Given the description of an element on the screen output the (x, y) to click on. 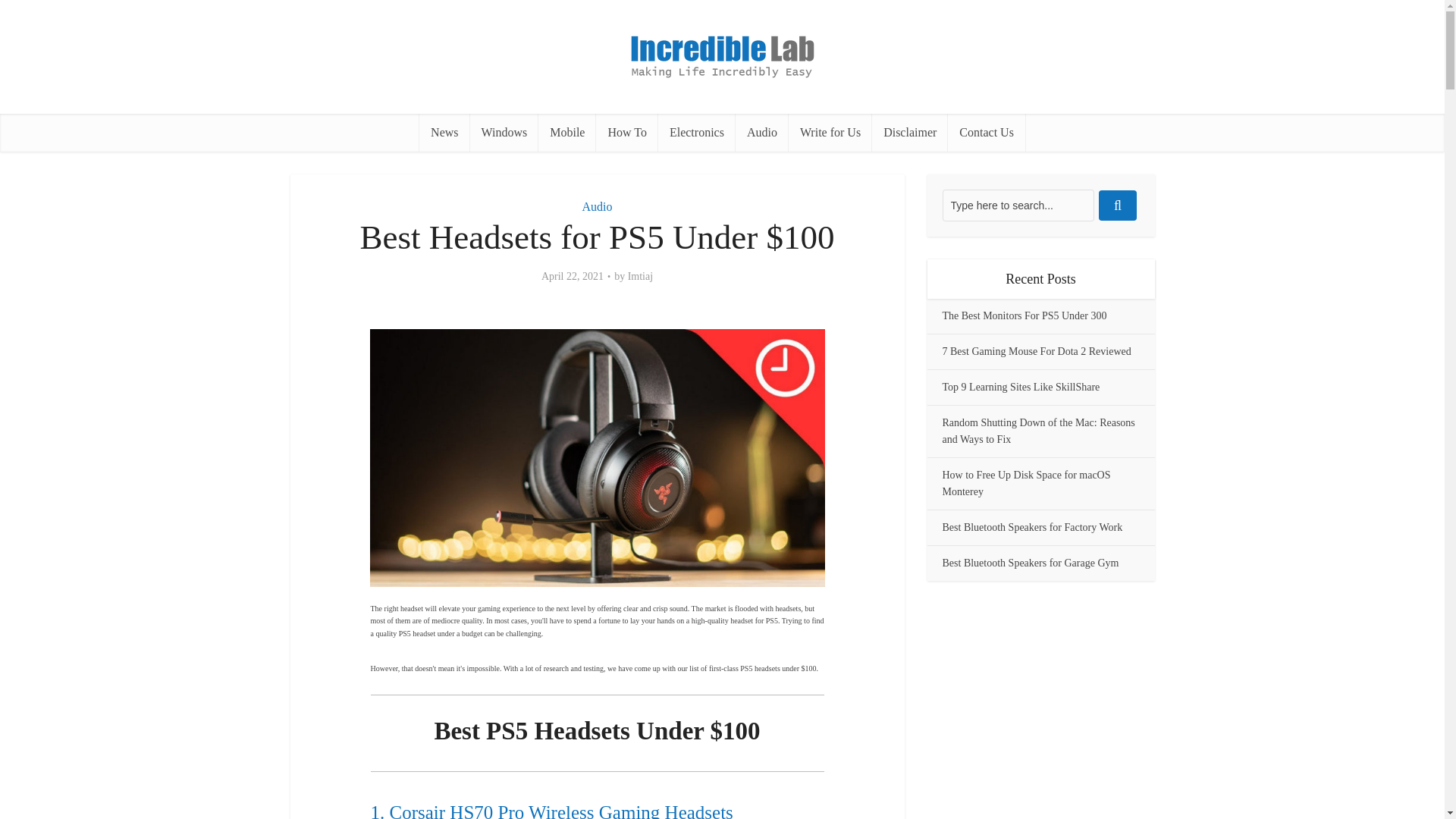
Contact Us (986, 132)
Imtiaj (639, 276)
Audio (597, 205)
How To (626, 132)
Mobile (566, 132)
Type here to search... (1017, 205)
Write for Us (830, 132)
Windows (504, 132)
News (443, 132)
1. Corsair HS70 Pro Wireless Gaming Headsets (550, 810)
Disclaimer (909, 132)
Type here to search... (1017, 205)
Audio (762, 132)
Electronics (696, 132)
